Given the description of an element on the screen output the (x, y) to click on. 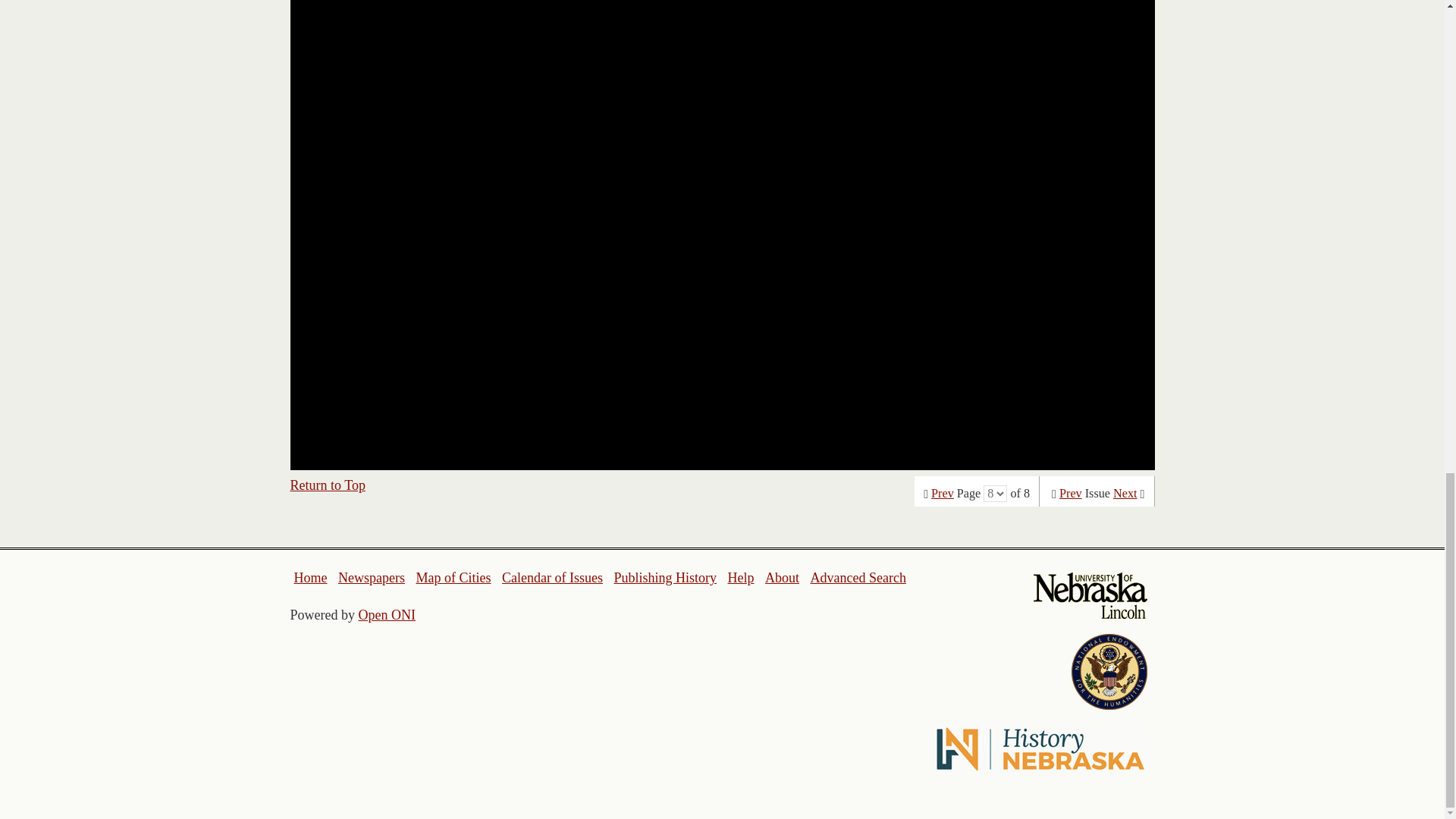
Open ONI (386, 614)
About (782, 577)
Prev (1070, 493)
Next (1125, 493)
Publishing History (664, 577)
Return to Top (327, 485)
Calendar of Issues (552, 577)
Help (740, 577)
Newspapers (370, 577)
Home (310, 577)
Prev (942, 493)
Advanced Search (857, 577)
Map of Cities (452, 577)
